Given the description of an element on the screen output the (x, y) to click on. 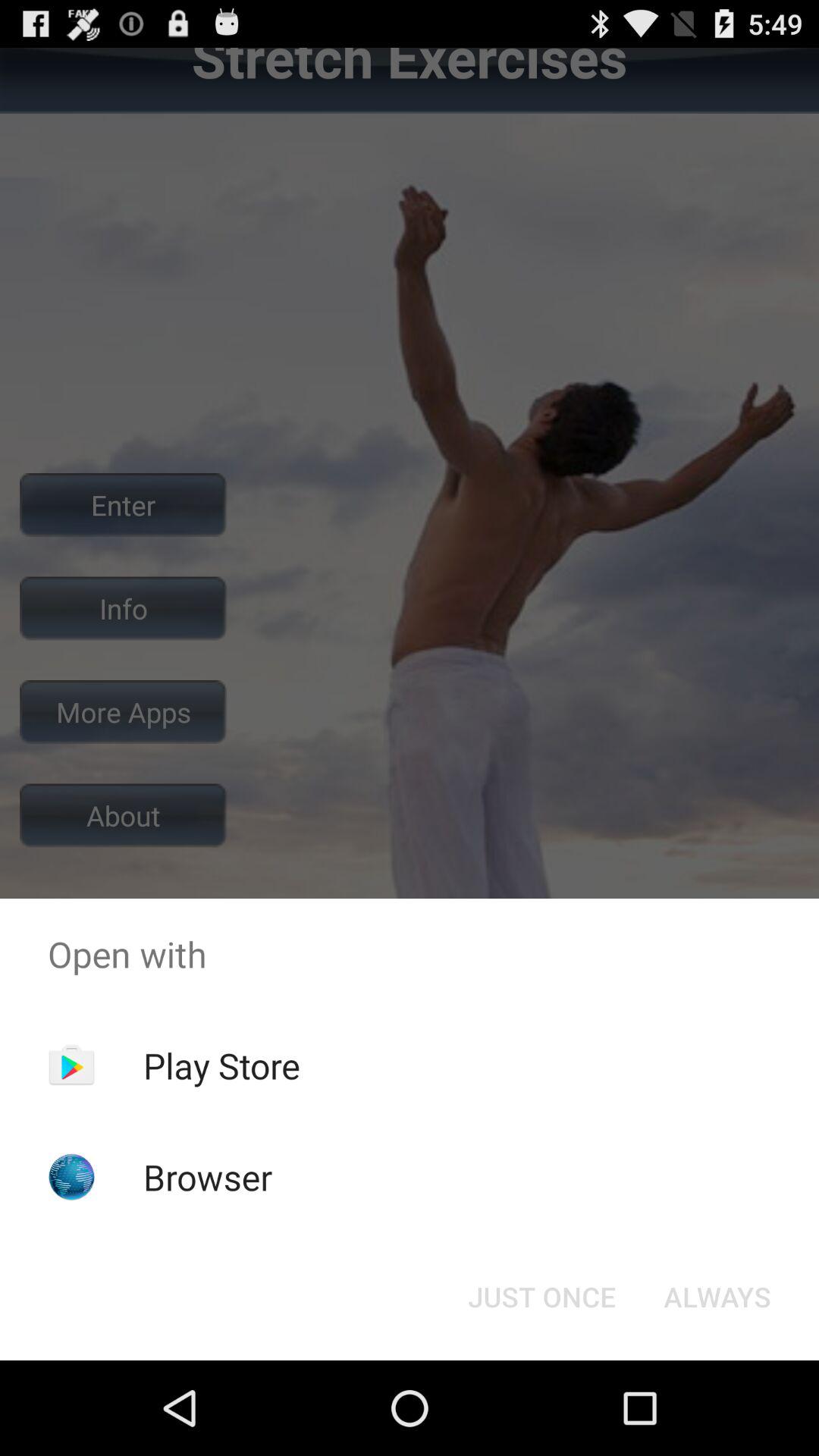
launch icon next to the just once (717, 1296)
